Given the description of an element on the screen output the (x, y) to click on. 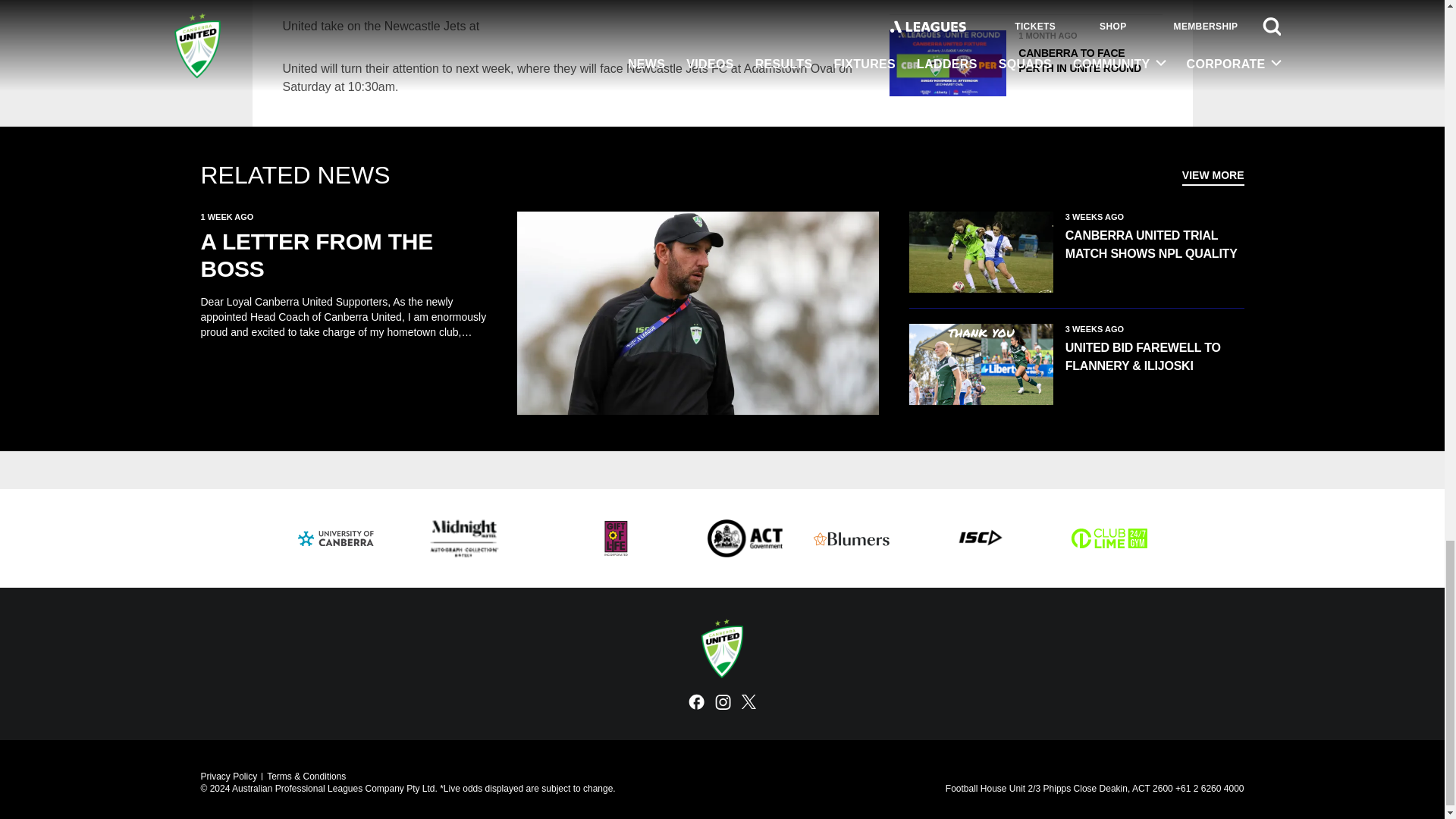
Gift of Life (615, 538)
Blumers Lawyers (850, 538)
University of Canberra (334, 538)
ISC Sport (979, 538)
Club Lime (1108, 537)
CBR (744, 538)
Midnight Hotel (463, 538)
